Given the description of an element on the screen output the (x, y) to click on. 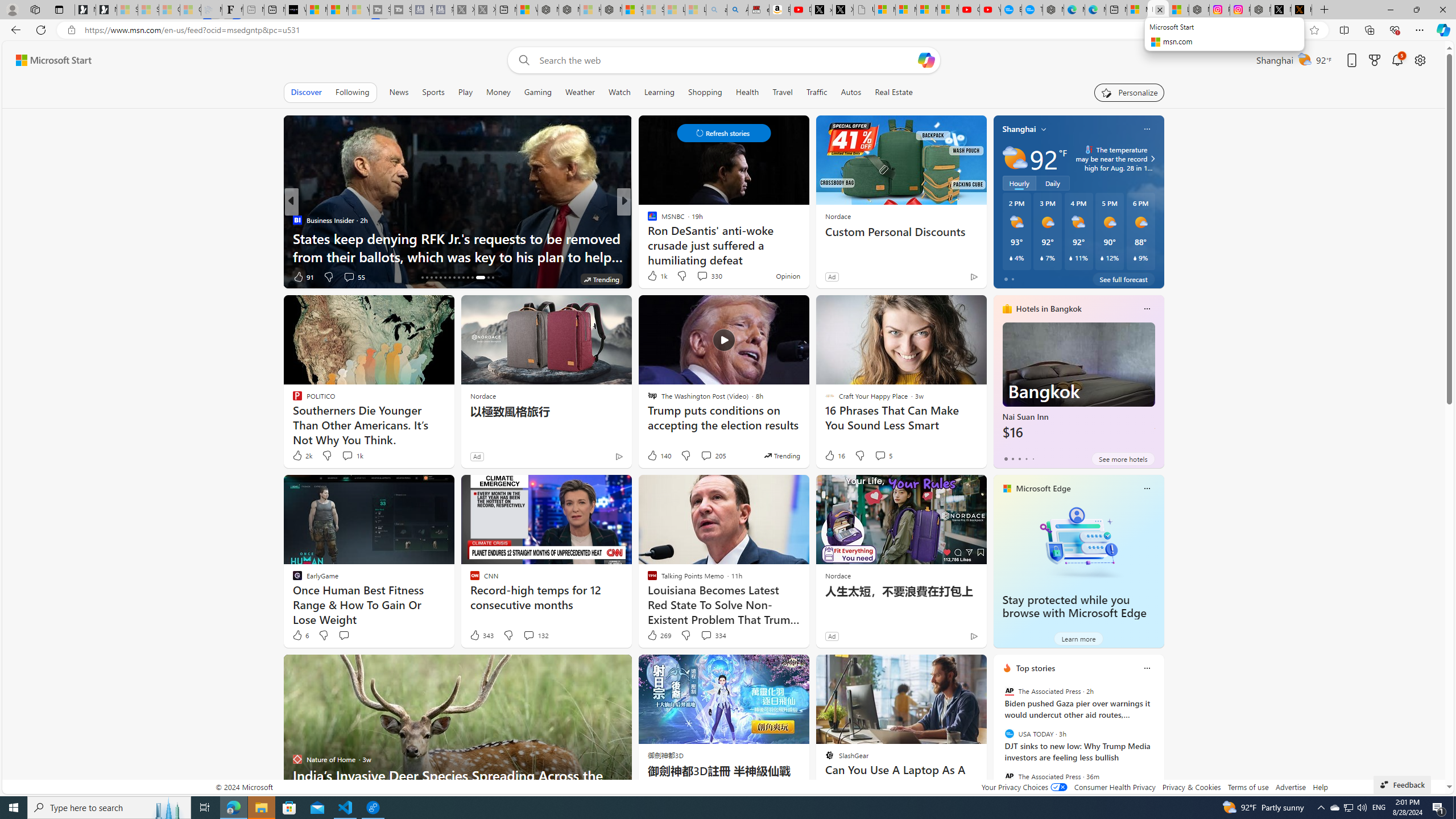
Learning (659, 92)
Newsletter Sign Up (106, 9)
Dangerous heat to head to Northeast after slamming Midwest (807, 247)
Enter your search term (726, 59)
Untitled (863, 9)
Privacy & Cookies (1191, 786)
AutomationID: tab-20 (440, 277)
View comments 334 Comment (712, 634)
Stay protected while you browse with Microsoft Edge (1077, 541)
Weather (579, 92)
